Given the description of an element on the screen output the (x, y) to click on. 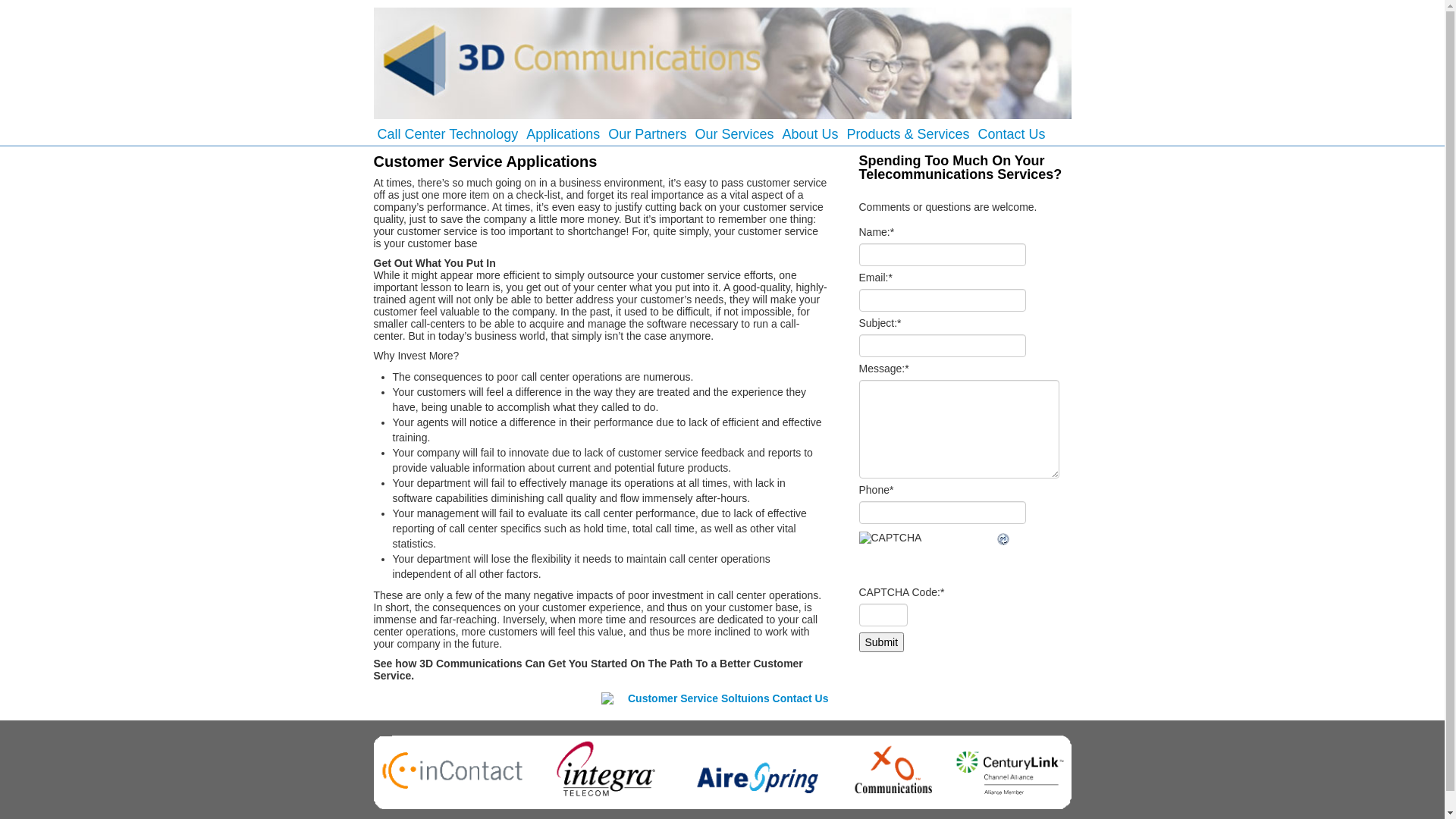
Contact Us Element type: hover (714, 705)
Call Center Technology Element type: text (447, 133)
Refresh Element type: hover (1002, 540)
Our Partners Element type: text (647, 133)
Applications Element type: text (562, 133)
Products & Services Element type: text (907, 133)
Contact Us Element type: text (1011, 133)
About Us Element type: text (809, 133)
Our Services Element type: text (733, 133)
Submit Element type: text (880, 642)
CAPTCHA Element type: hover (926, 554)
